Given the description of an element on the screen output the (x, y) to click on. 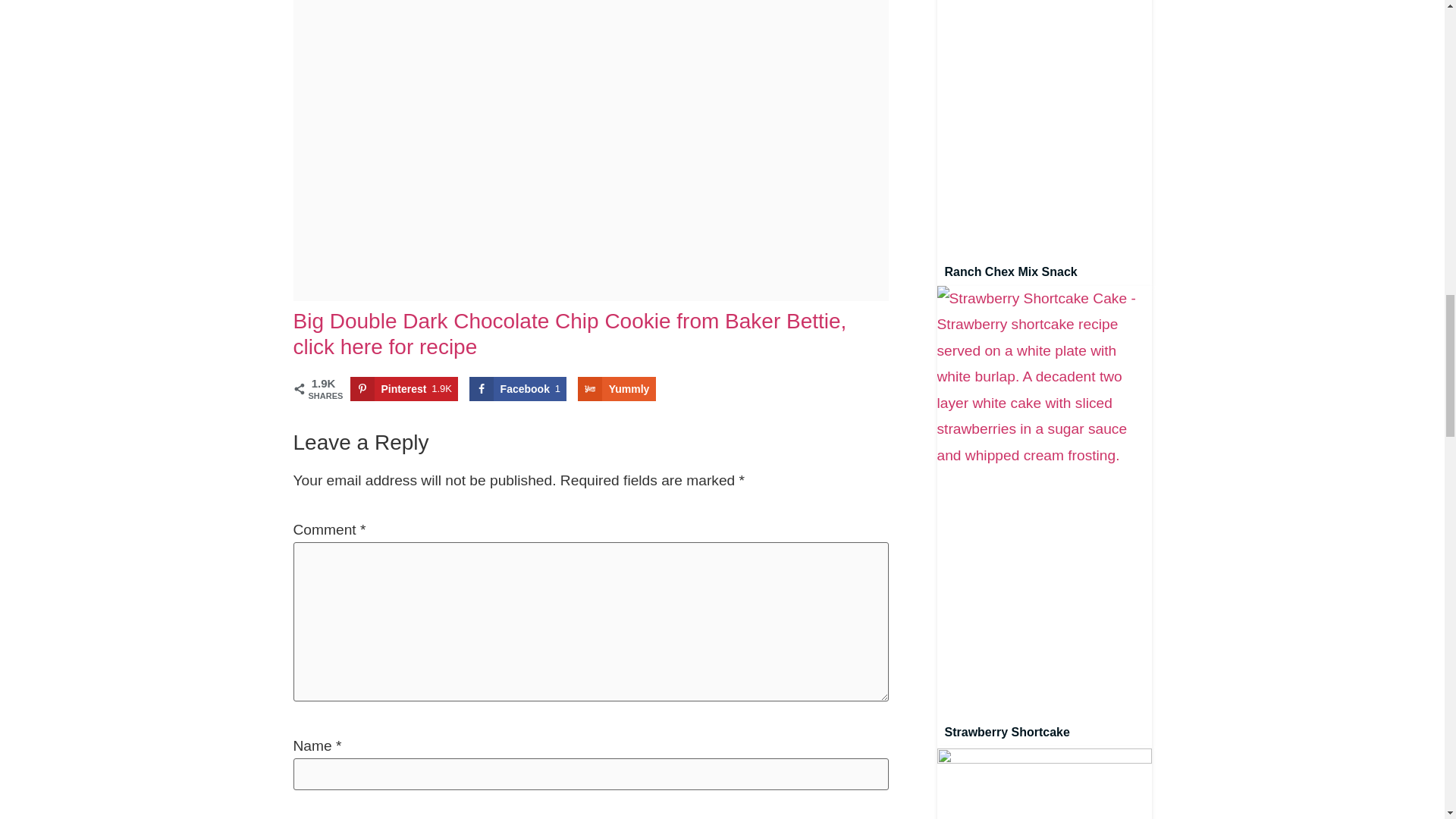
Share on Facebook (517, 388)
Yummly (617, 388)
Share on Yummly (617, 388)
Save to Pinterest (404, 388)
